Given the description of an element on the screen output the (x, y) to click on. 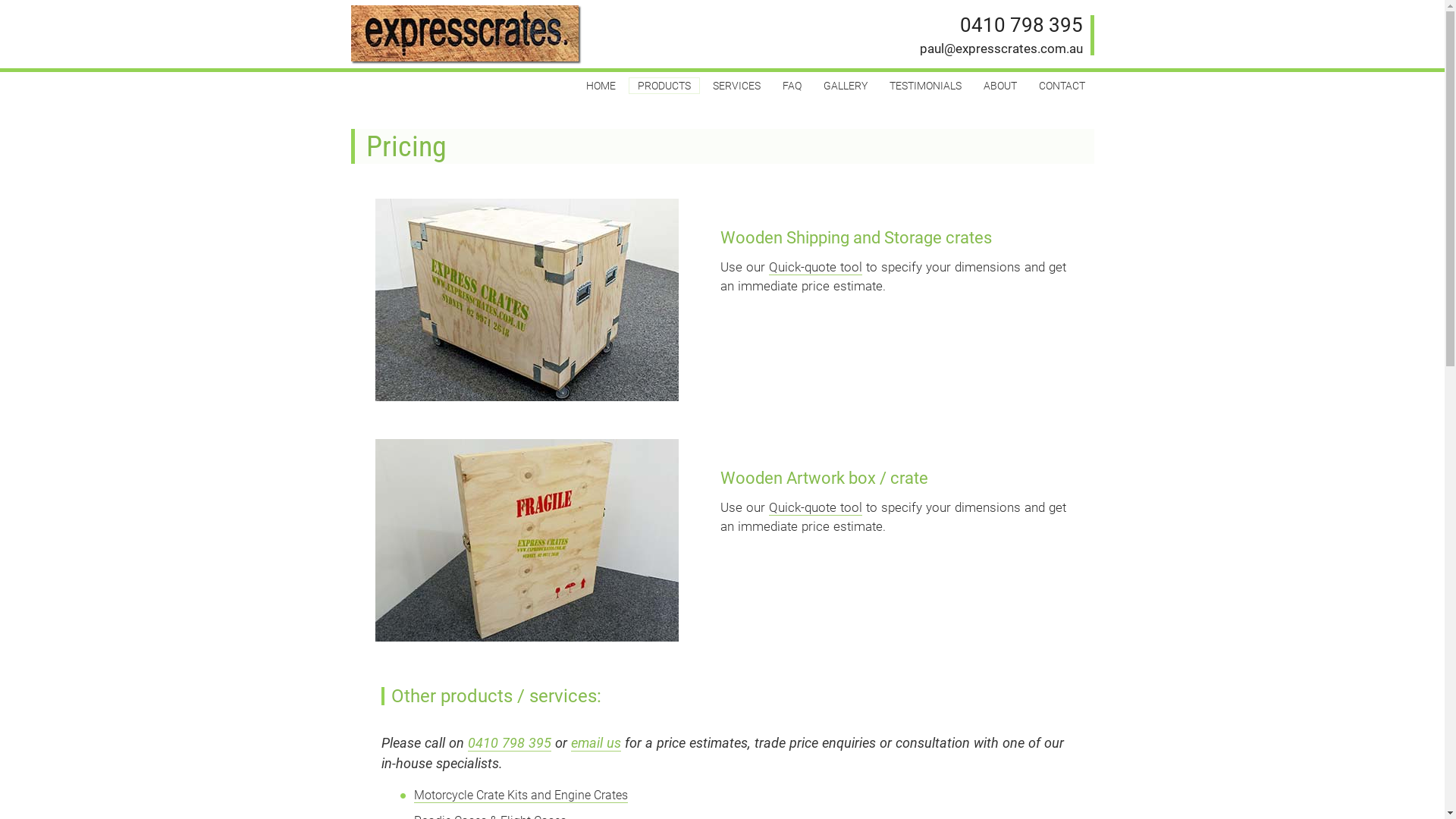
0410 798 395 Element type: text (508, 742)
PRODUCTS Element type: text (663, 85)
CONTACT Element type: text (1061, 85)
FAQ Element type: text (791, 85)
email us Element type: text (595, 742)
Quick-quote tool Element type: text (815, 267)
Motorcycle Crate Kits and Engine Crates Element type: text (520, 794)
SERVICES Element type: text (736, 85)
HOME Element type: text (600, 85)
paul@expresscrates.com.au Element type: text (1000, 48)
Quick-quote tool Element type: text (815, 506)
GALLERY Element type: text (845, 85)
0410 798 395 Element type: text (1021, 24)
TESTIMONIALS Element type: text (924, 85)
ABOUT Element type: text (999, 85)
